Given the description of an element on the screen output the (x, y) to click on. 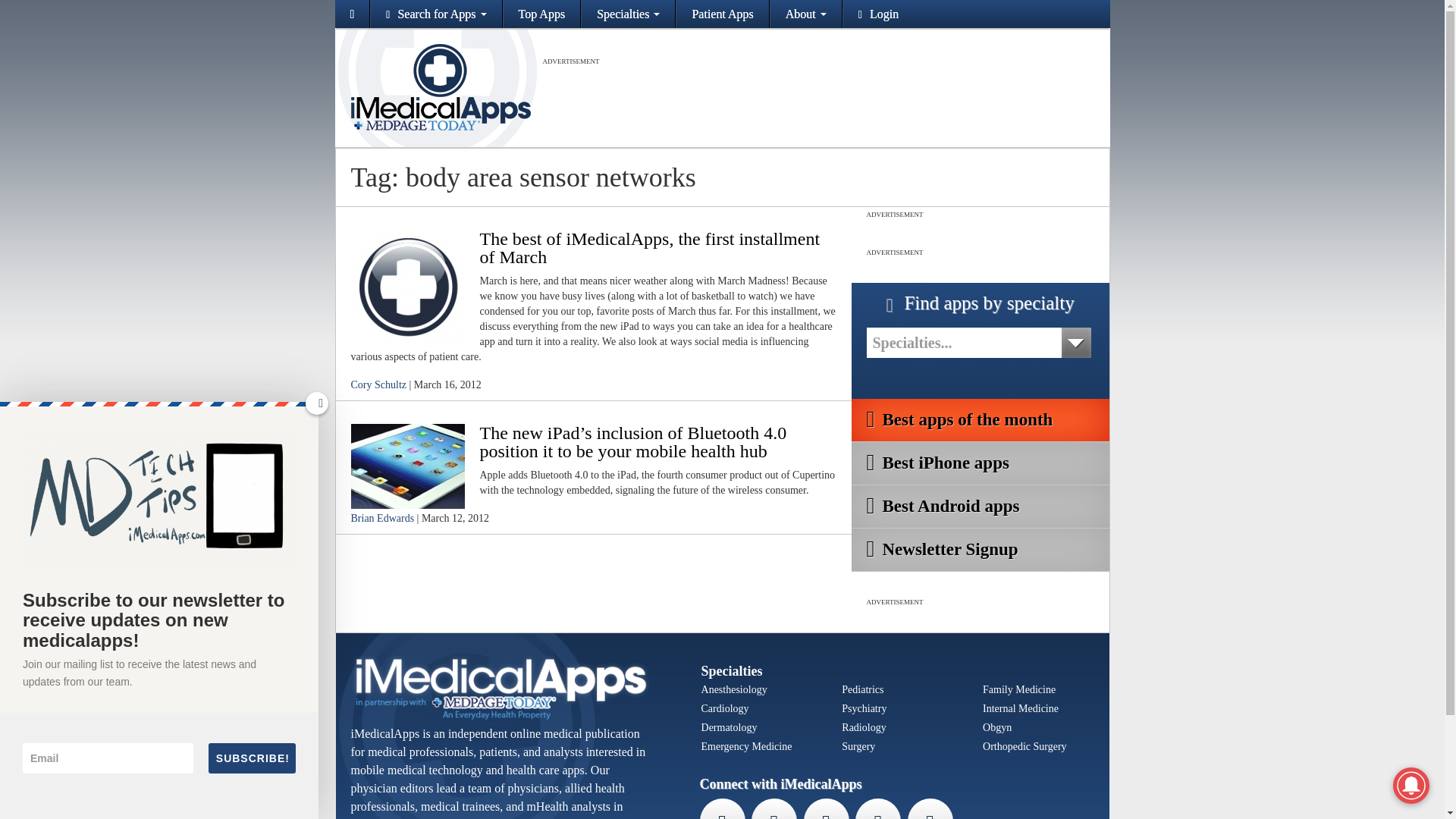
Specialties (627, 13)
The best of iMedicalApps, the first installment of March (407, 285)
About (805, 13)
Patient Apps (722, 13)
The best of iMedicalApps, the first installment of March (649, 247)
Search for Apps (435, 13)
Top Apps (541, 13)
